Given the description of an element on the screen output the (x, y) to click on. 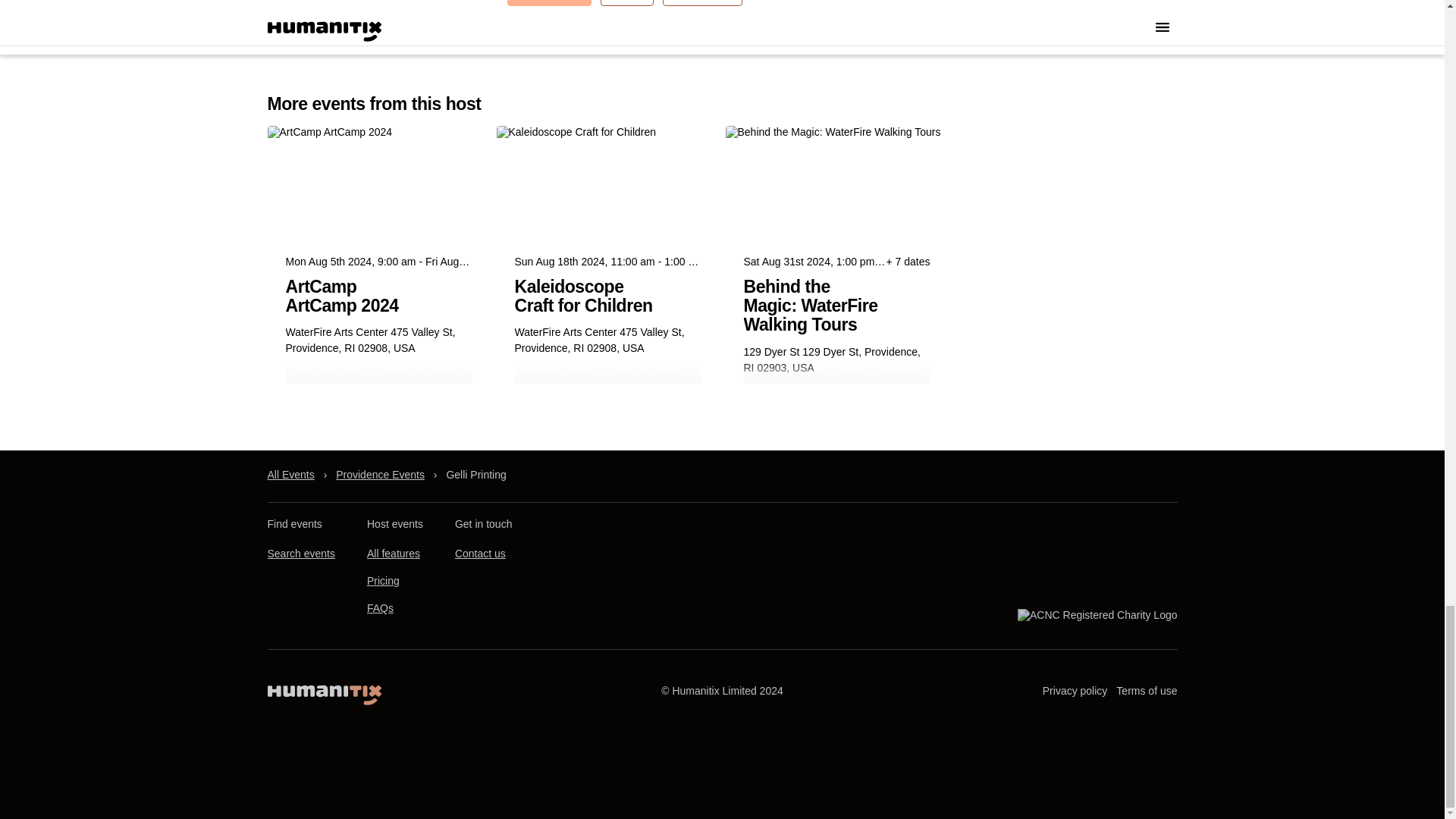
Contact host (548, 2)
View profile (701, 2)
All Events (290, 474)
Follow (626, 2)
Providence Events (380, 474)
Gelli Printing (475, 474)
